Given the description of an element on the screen output the (x, y) to click on. 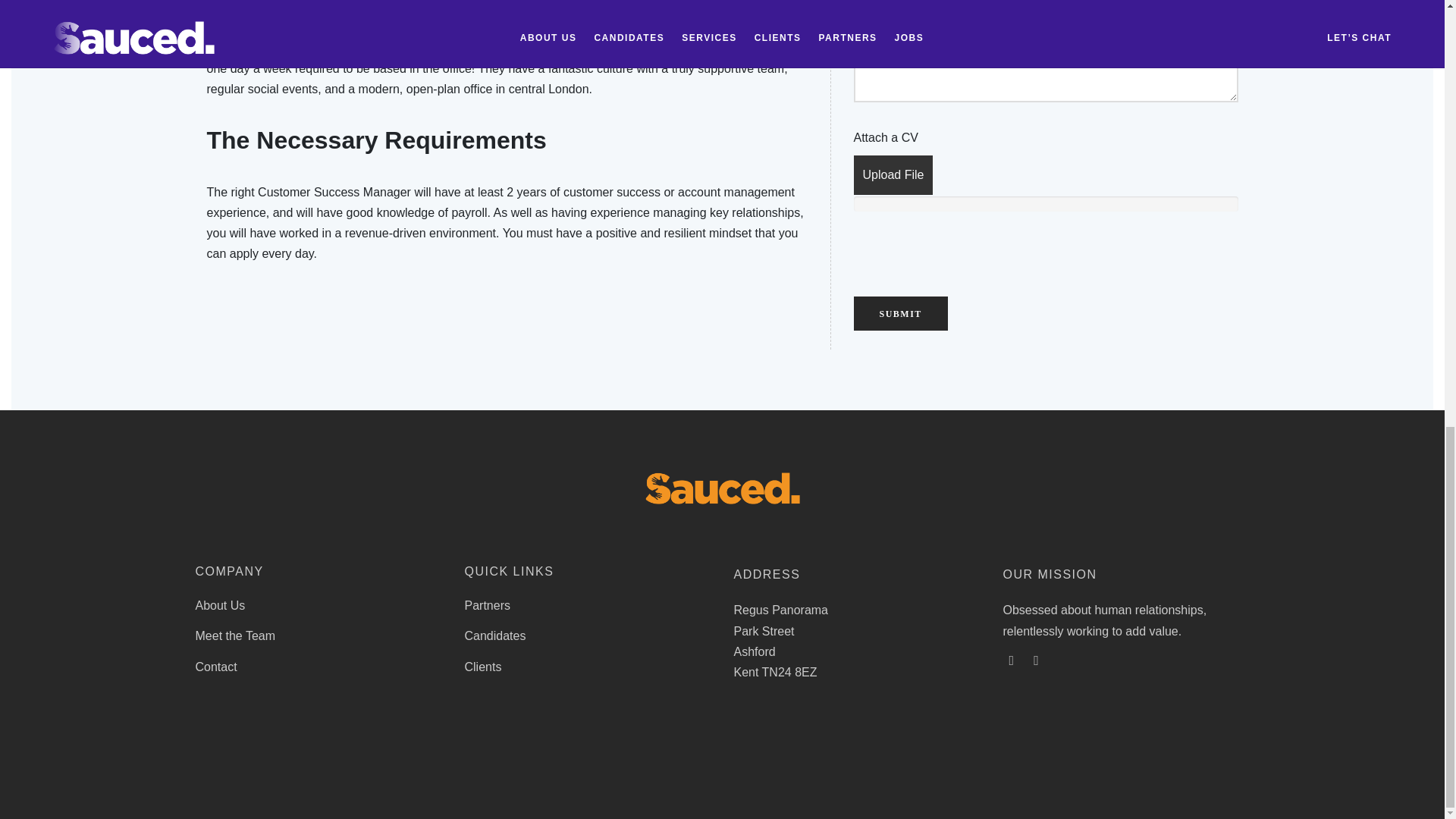
Meet the Team (235, 635)
About Us (220, 604)
Partners (486, 604)
Submit (900, 313)
Upload File (893, 174)
Submit (900, 313)
Candidates (494, 635)
Clients (482, 666)
Contact (216, 666)
